Given the description of an element on the screen output the (x, y) to click on. 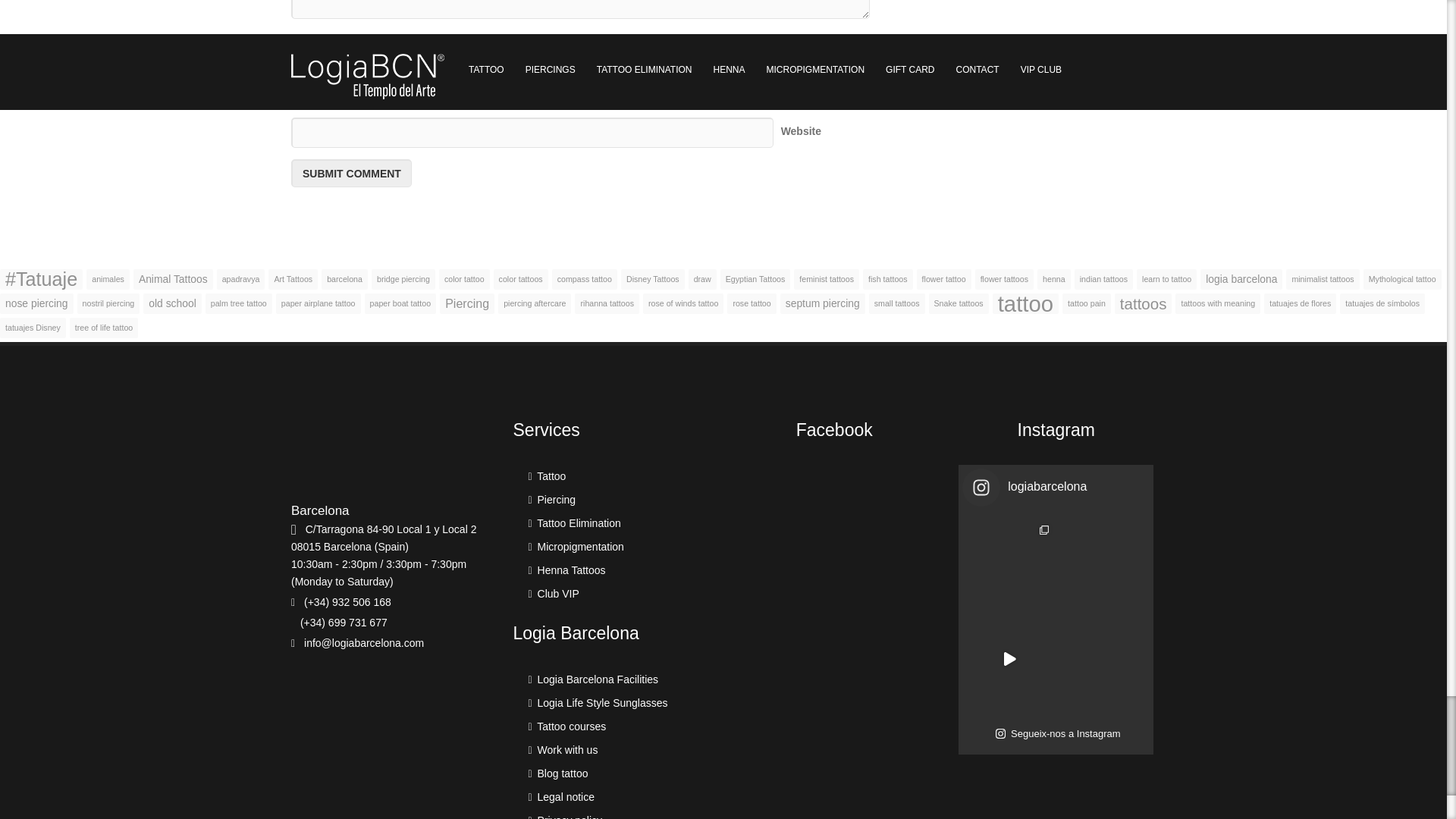
Submit Comment (351, 172)
